Given the description of an element on the screen output the (x, y) to click on. 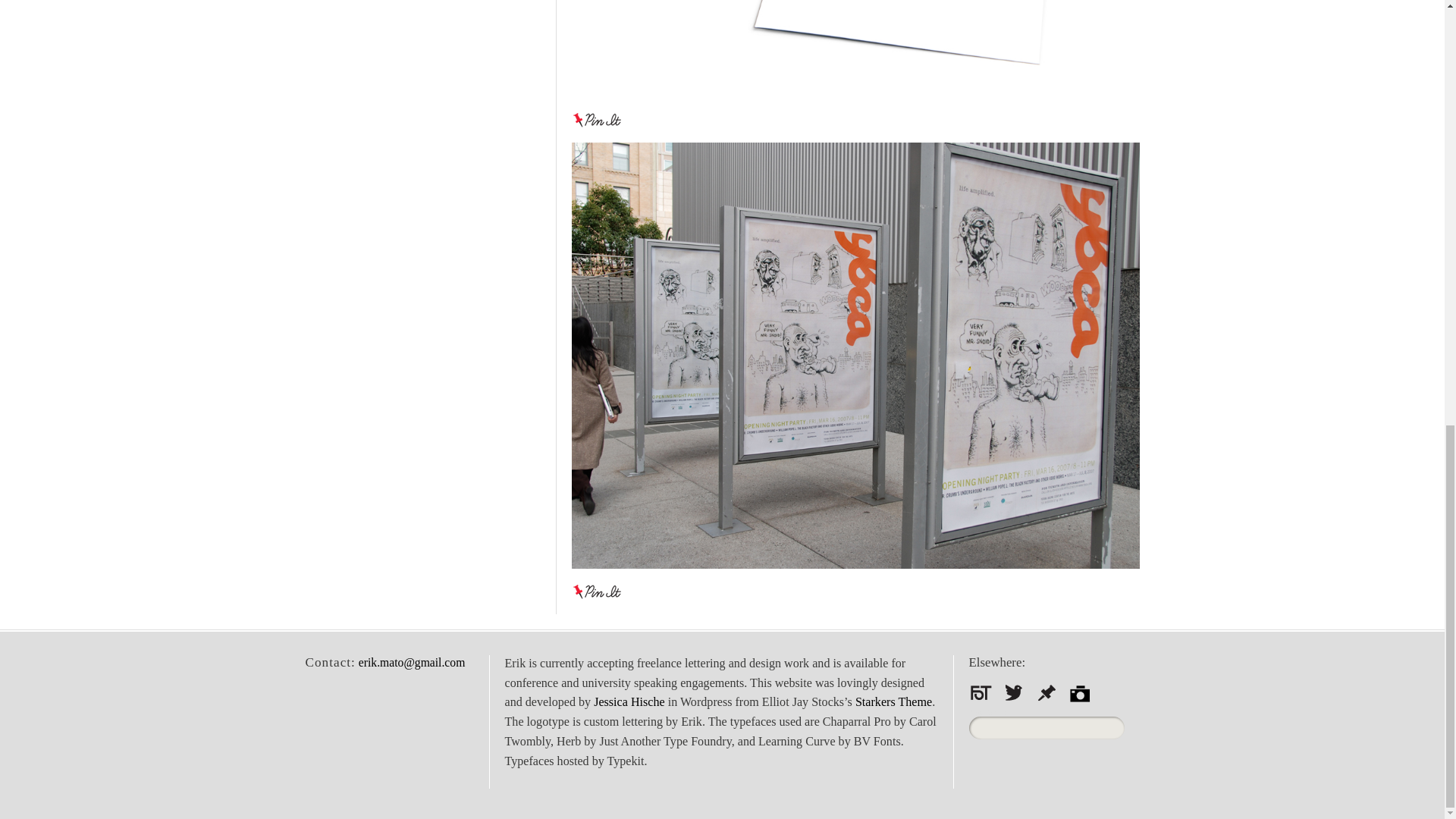
Pin It (597, 119)
Jessica Hische (629, 701)
Starkers Theme (893, 701)
Pin It (597, 590)
